Given the description of an element on the screen output the (x, y) to click on. 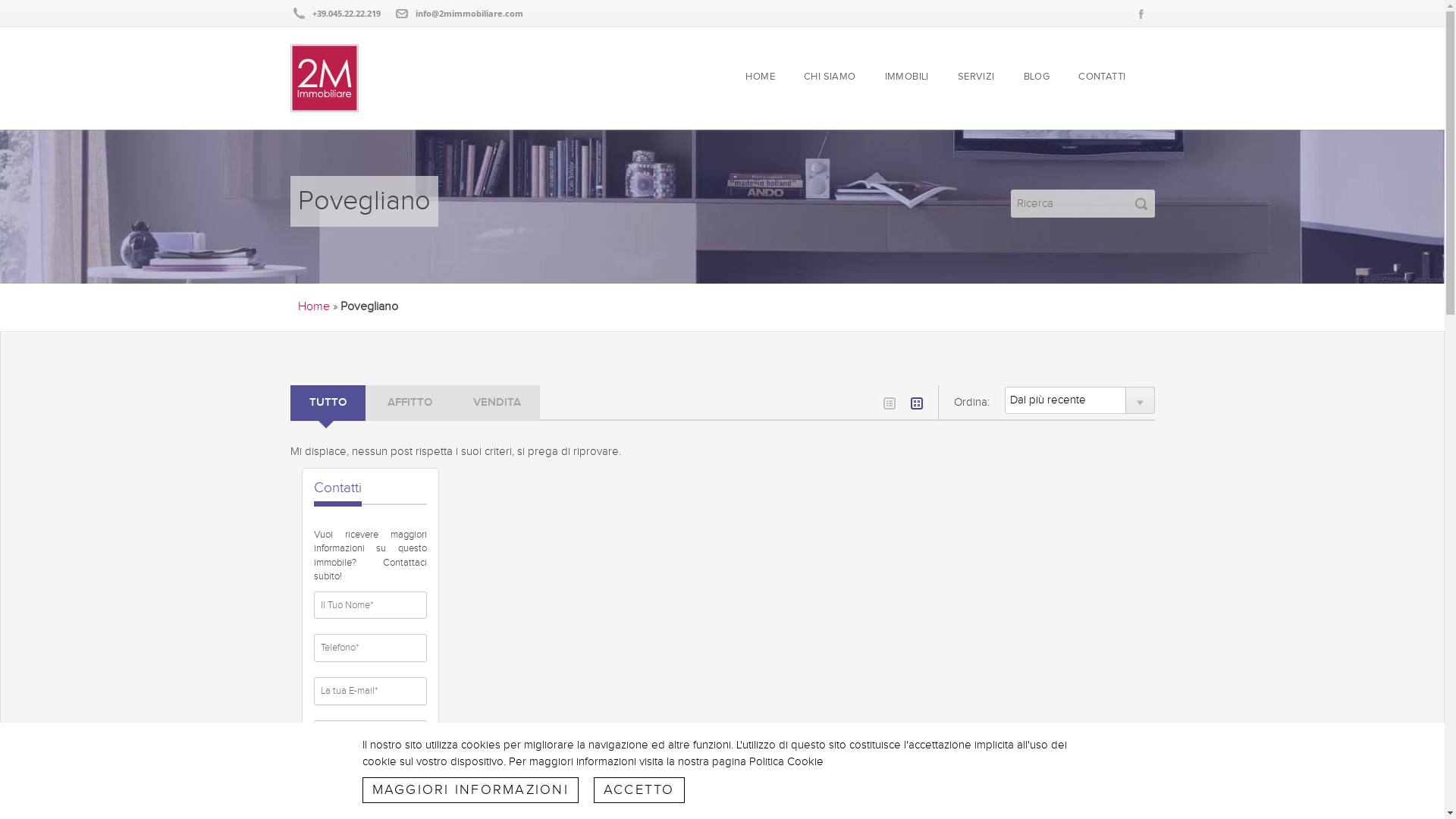
HOME Element type: text (760, 76)
AFFITTO Element type: text (409, 402)
VENDITA Element type: text (496, 402)
BLOG Element type: text (1036, 76)
info@2mimmobiliare.com Element type: text (469, 12)
Home Element type: text (313, 306)
CHI SIAMO Element type: text (829, 76)
SERVIZI Element type: text (976, 76)
CONTATTI Element type: text (1101, 76)
IMMOBILI Element type: text (906, 76)
MAGGIORI INFORMAZIONI Element type: text (470, 790)
TUTTO Element type: text (326, 402)
ACCETTO Element type: text (638, 790)
